Given the description of an element on the screen output the (x, y) to click on. 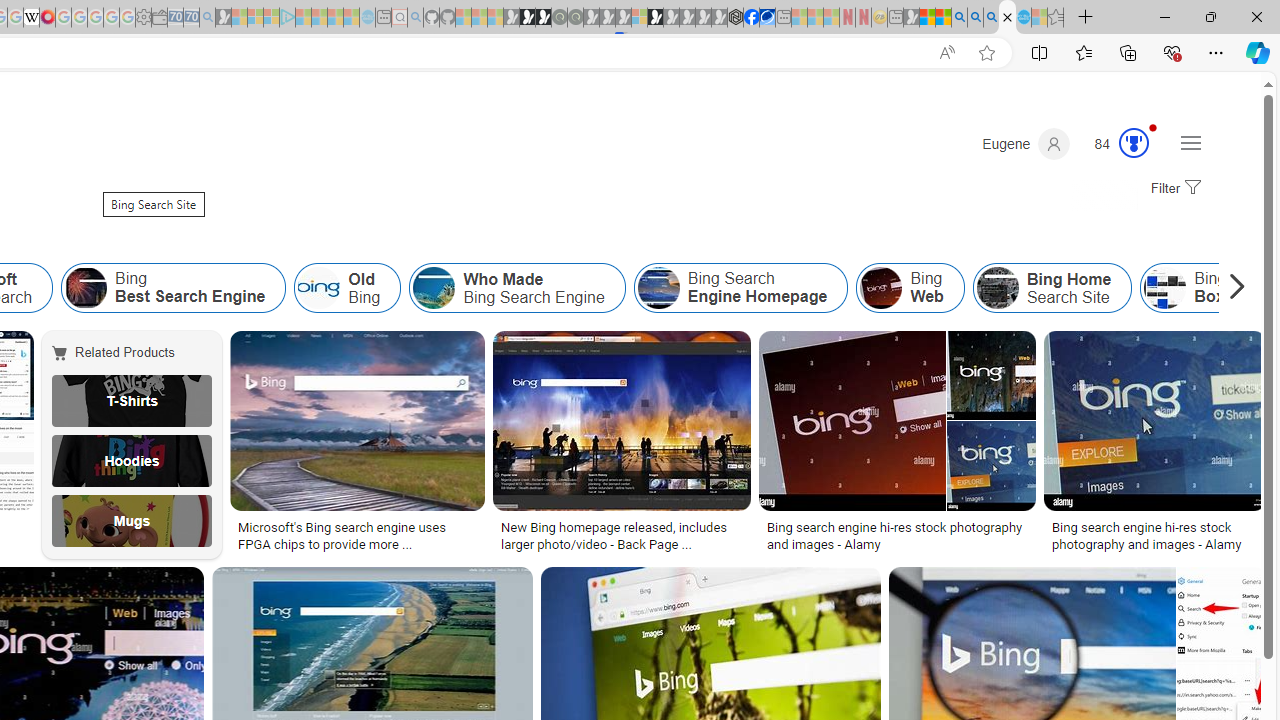
Bing Best Search Engine (86, 287)
Bing Web (910, 287)
AirNow.gov (767, 17)
Bing T-Shirts (132, 400)
Class: item col (1051, 287)
Bing Search Engine Homepage (740, 287)
Image result for Bing Search Site (1154, 421)
Related ProductsT-ShirtsHoodiesMugs (136, 444)
